Given the description of an element on the screen output the (x, y) to click on. 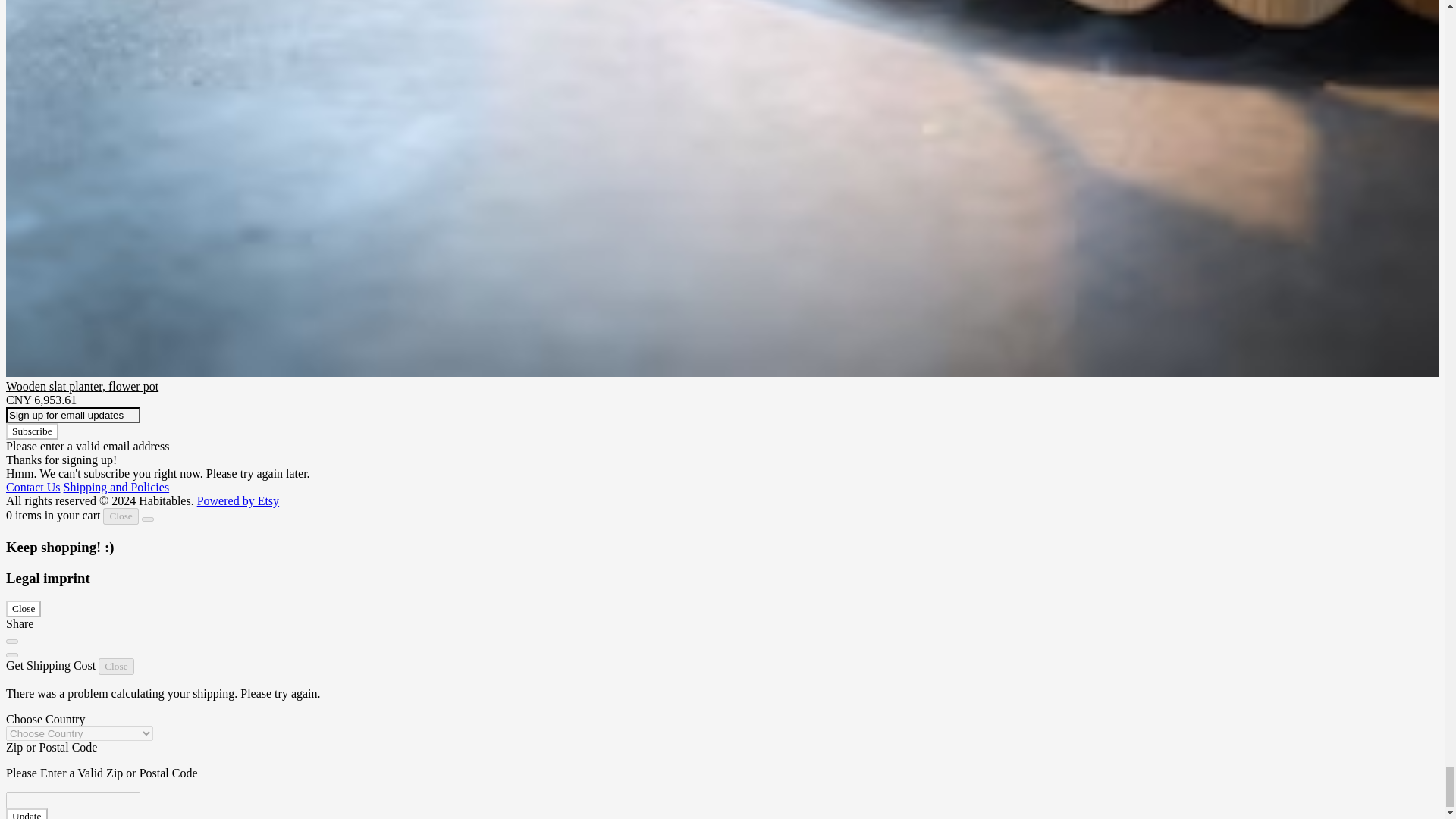
Powered by Etsy (237, 500)
Subscribe (31, 431)
Contact Us (33, 486)
Shipping and Policies (117, 486)
Subscribe (31, 431)
Close (120, 515)
Close (22, 608)
